Given the description of an element on the screen output the (x, y) to click on. 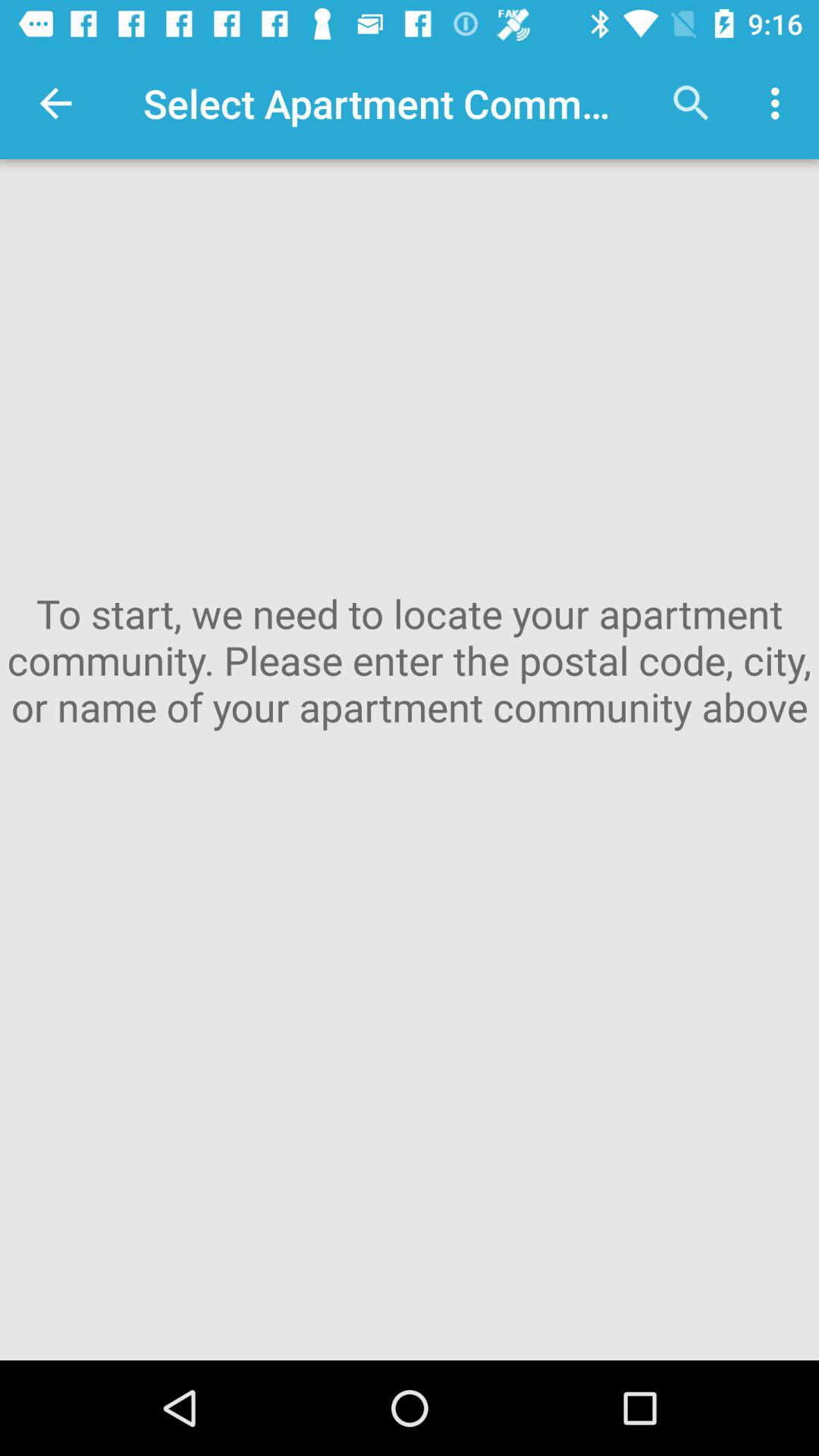
tap item to the left of the select apartment community icon (55, 103)
